Given the description of an element on the screen output the (x, y) to click on. 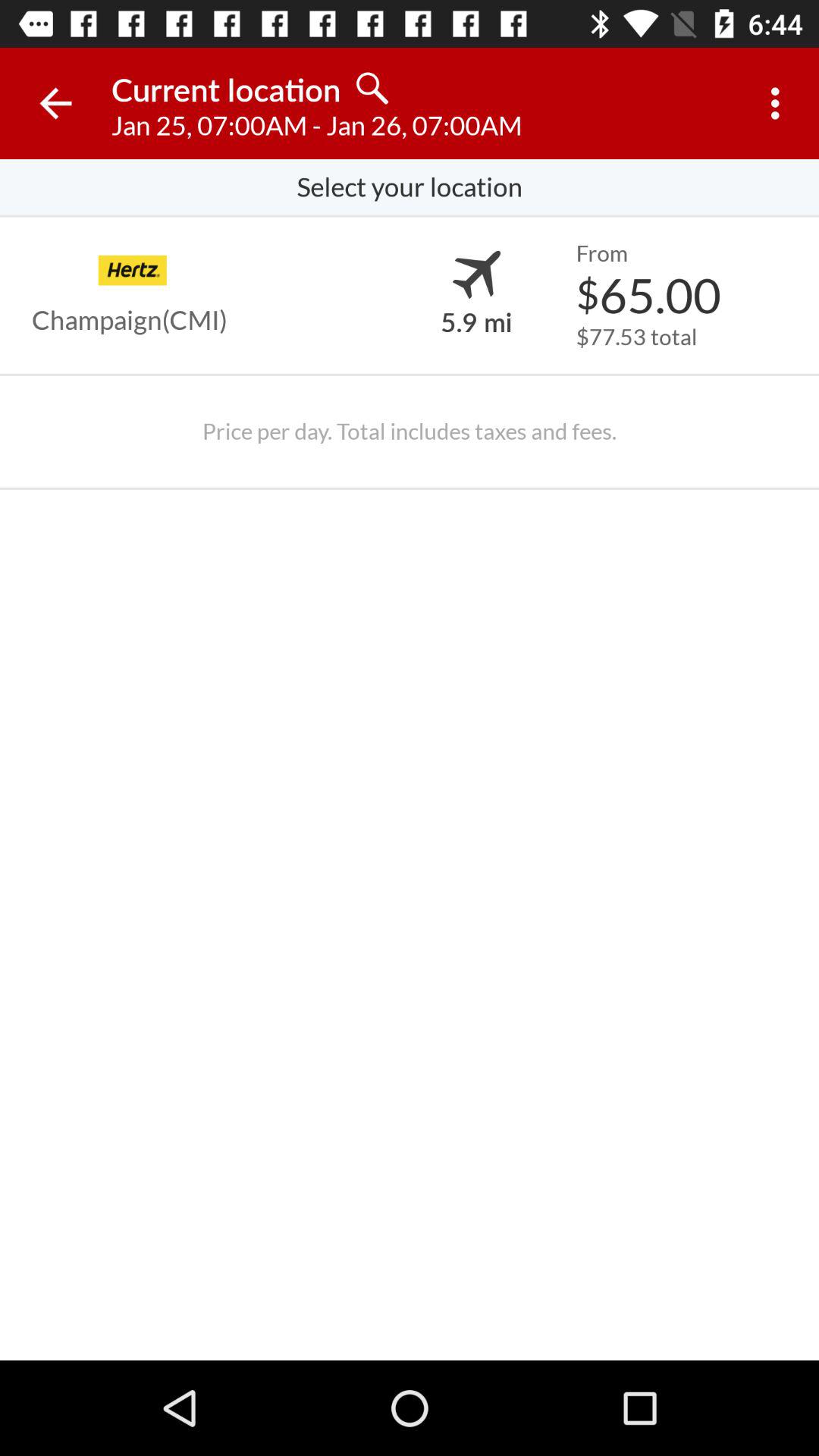
swipe until $65.00 (648, 294)
